Given the description of an element on the screen output the (x, y) to click on. 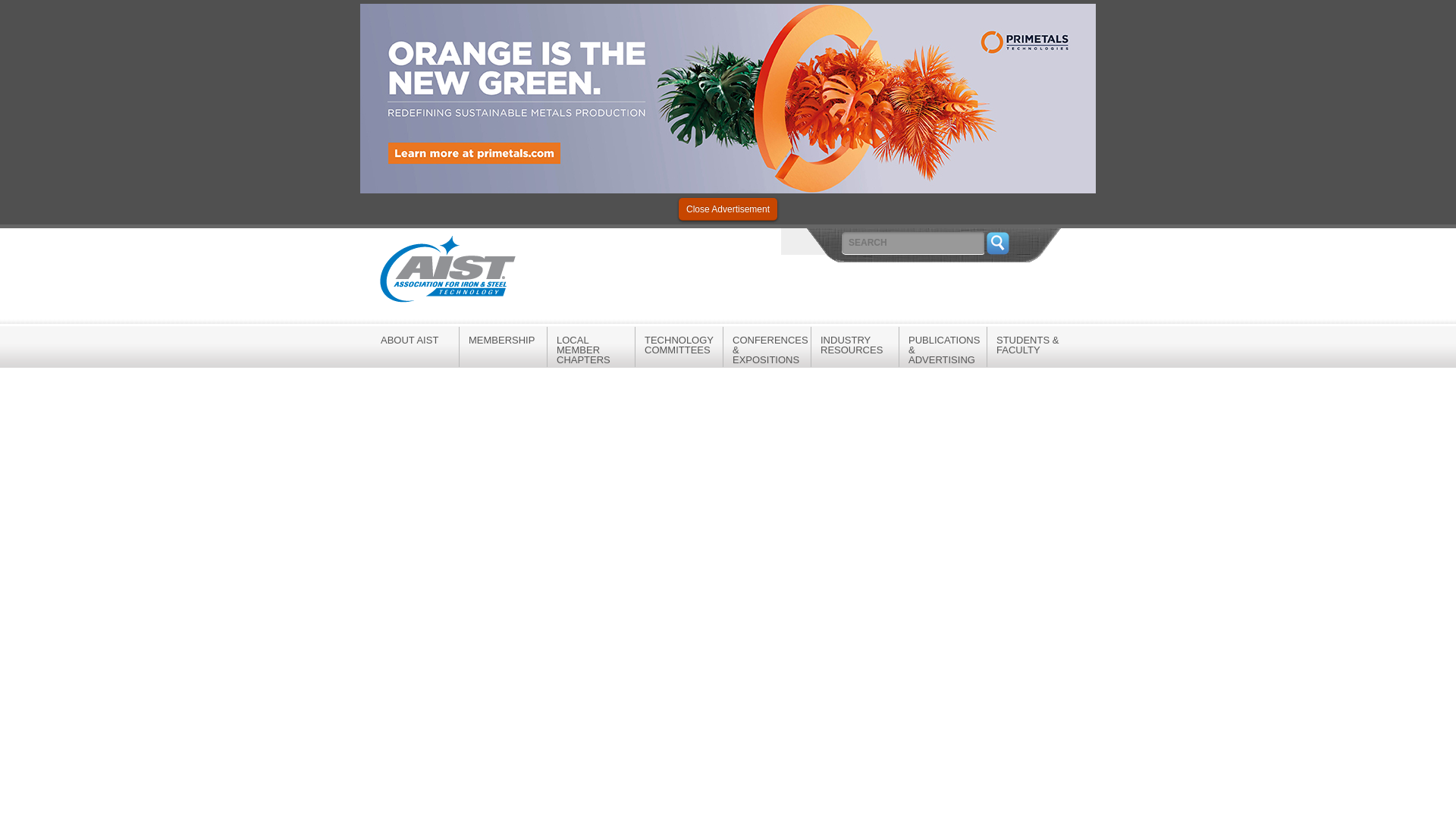
ABOUT AIST (414, 339)
MEMBERSHIP (503, 339)
TECHNOLOGY COMMITTEES (678, 344)
